Given the description of an element on the screen output the (x, y) to click on. 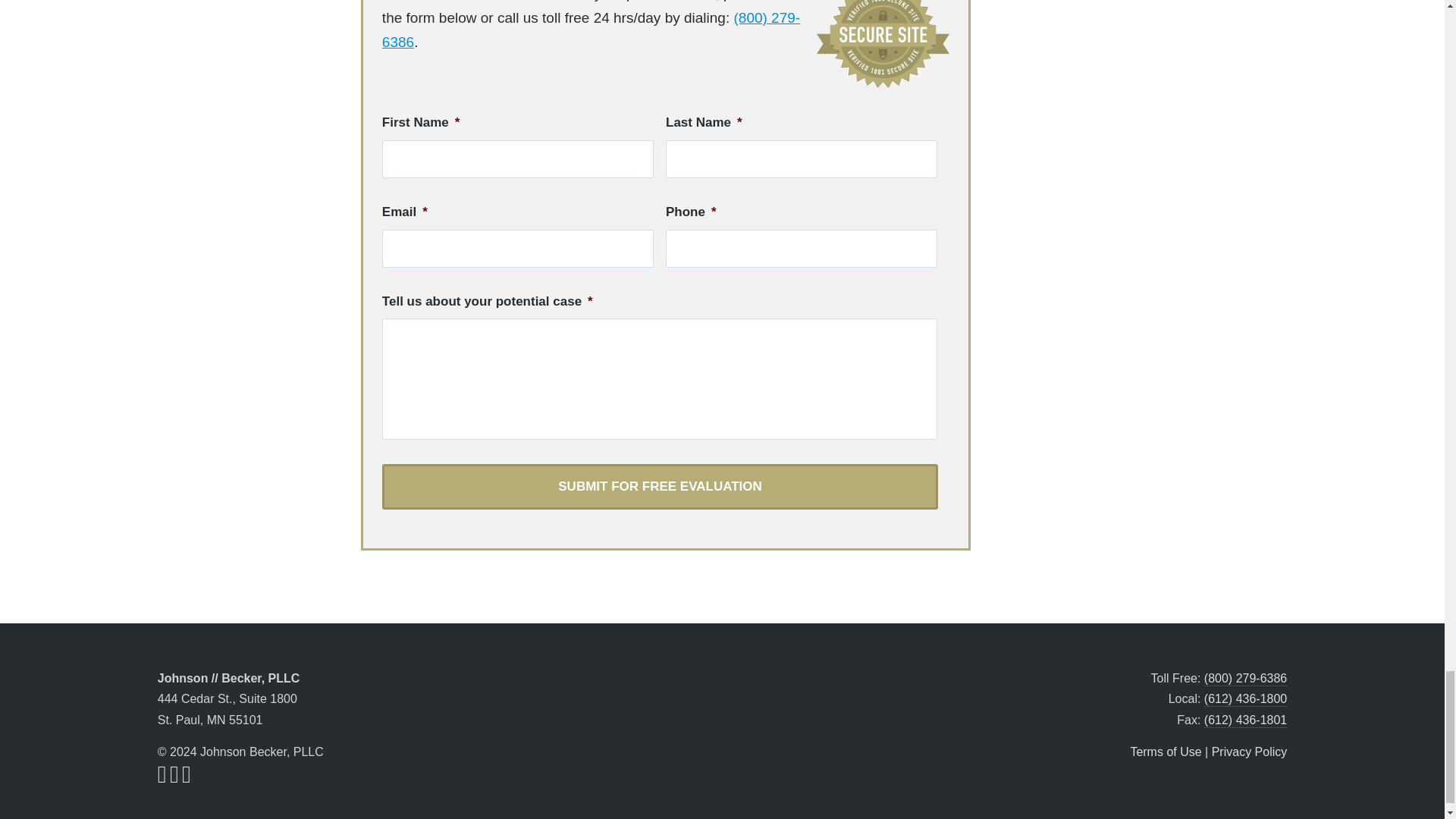
Submit for Free Evaluation (659, 486)
